Given the description of an element on the screen output the (x, y) to click on. 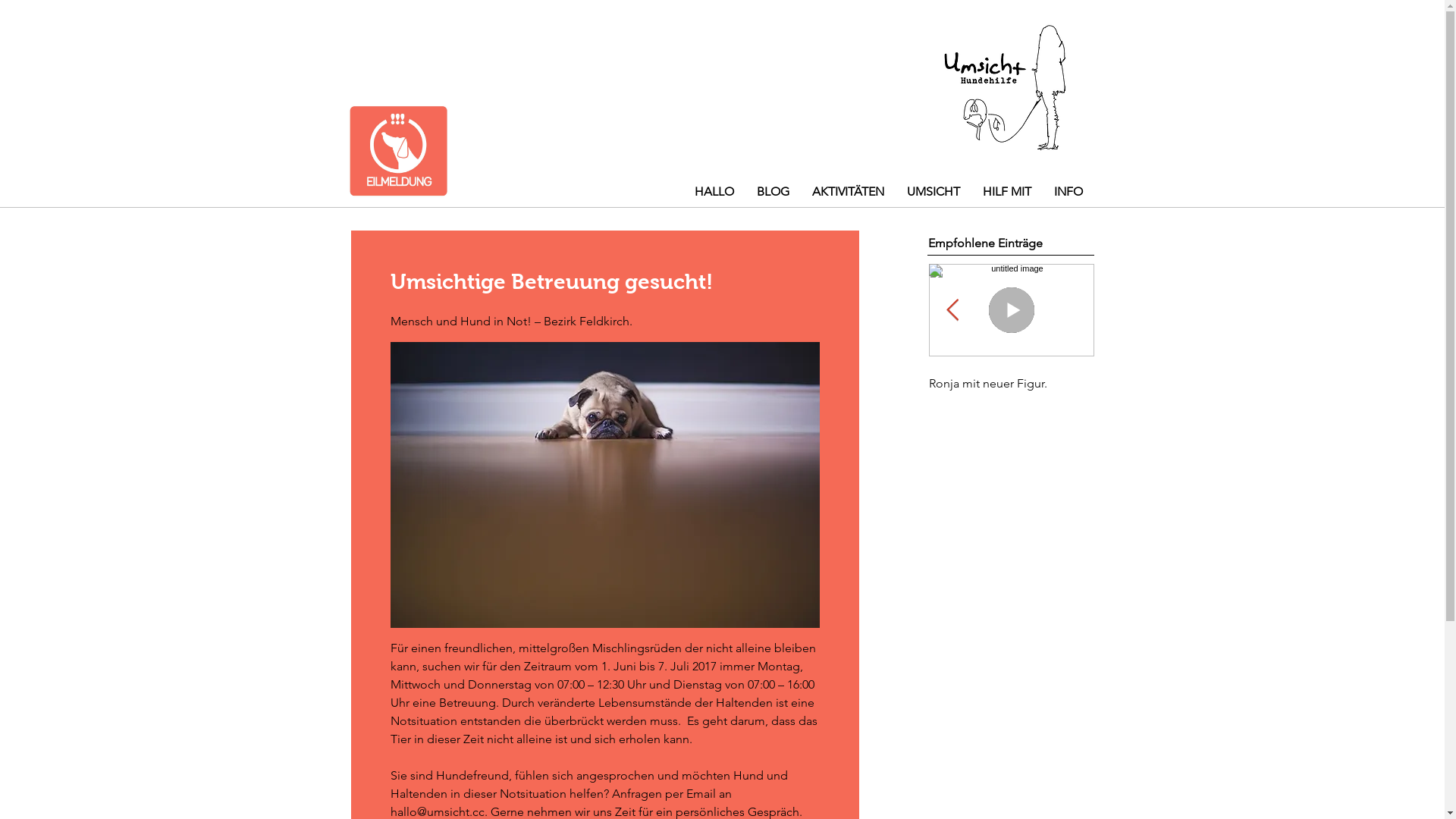
BLOG Element type: text (772, 191)
Ausflug mit neuen Bekanntschaften. Element type: text (349, 390)
Andrea Patrzek aktiv mit Umsicht. Element type: text (514, 390)
Umsichtige Hundesuche Element type: text (845, 383)
Ronja mit neuer Figur. Element type: text (1010, 383)
20190309 Logo.png Element type: hover (1002, 87)
HALLO Element type: text (713, 191)
